Given the description of an element on the screen output the (x, y) to click on. 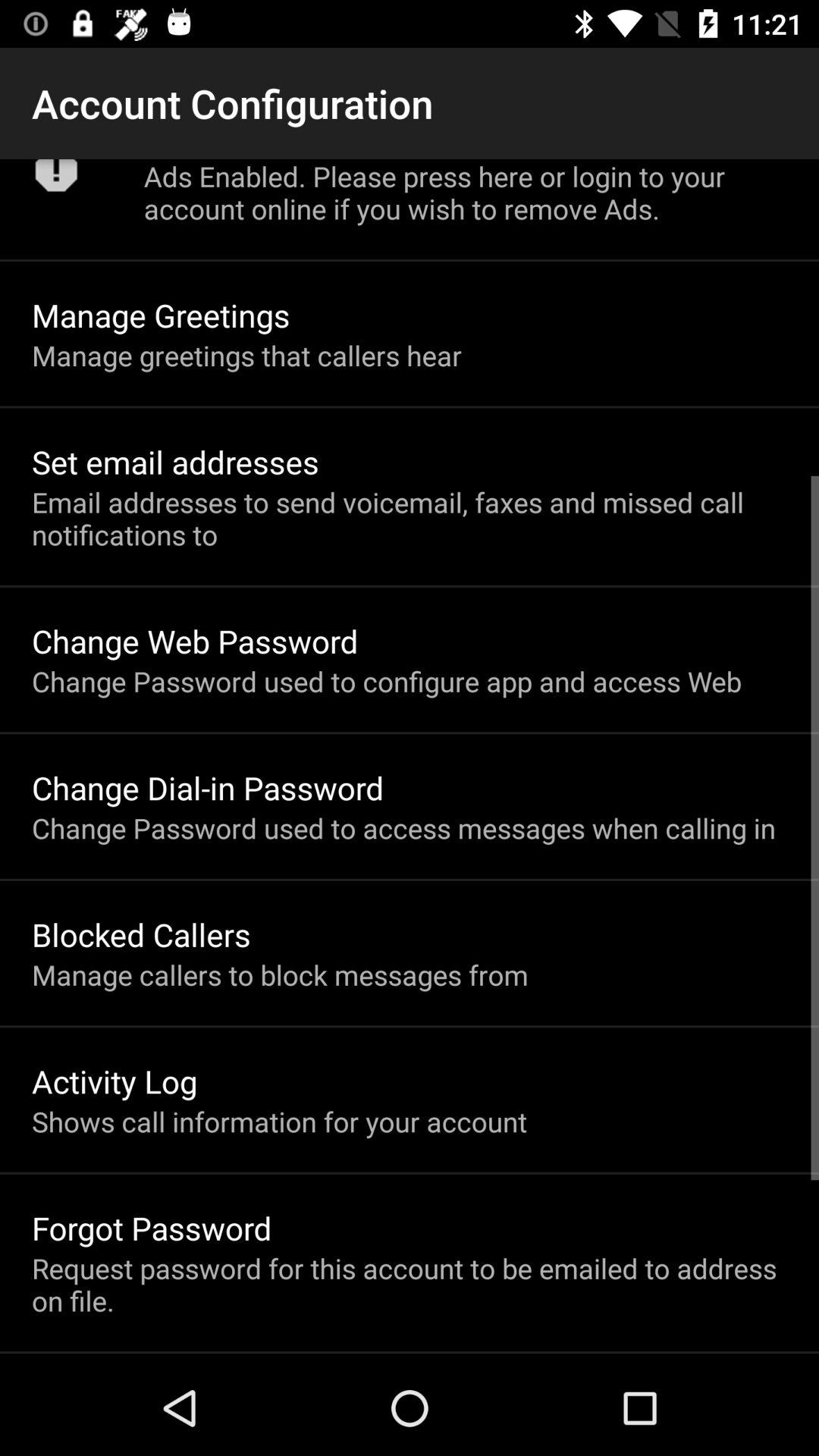
turn off ads enabled please icon (465, 193)
